Given the description of an element on the screen output the (x, y) to click on. 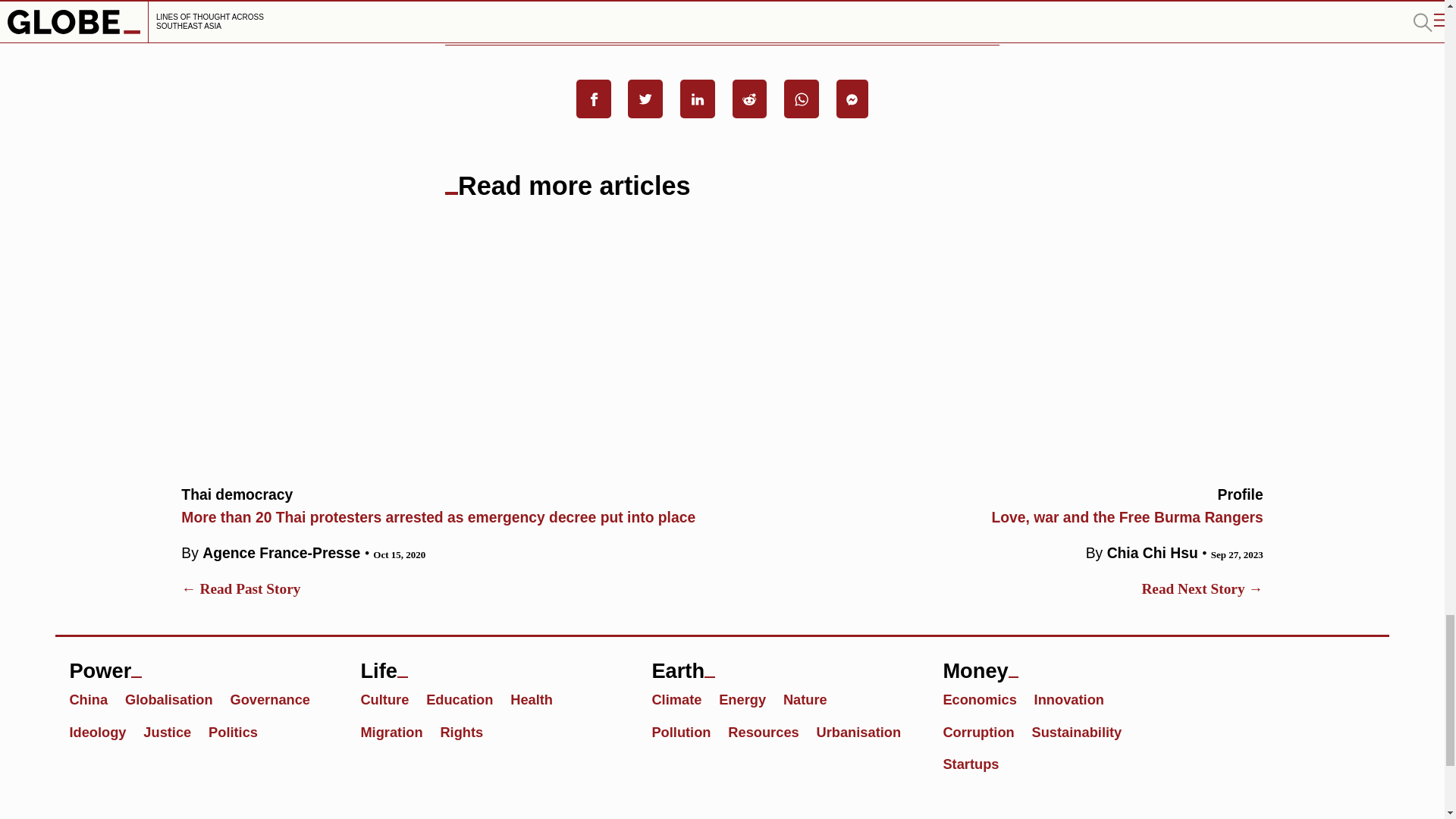
Power (999, 503)
Ideology (199, 664)
Governance (103, 731)
China (276, 698)
Politics (94, 698)
Globalisation (239, 731)
Justice (176, 698)
